Given the description of an element on the screen output the (x, y) to click on. 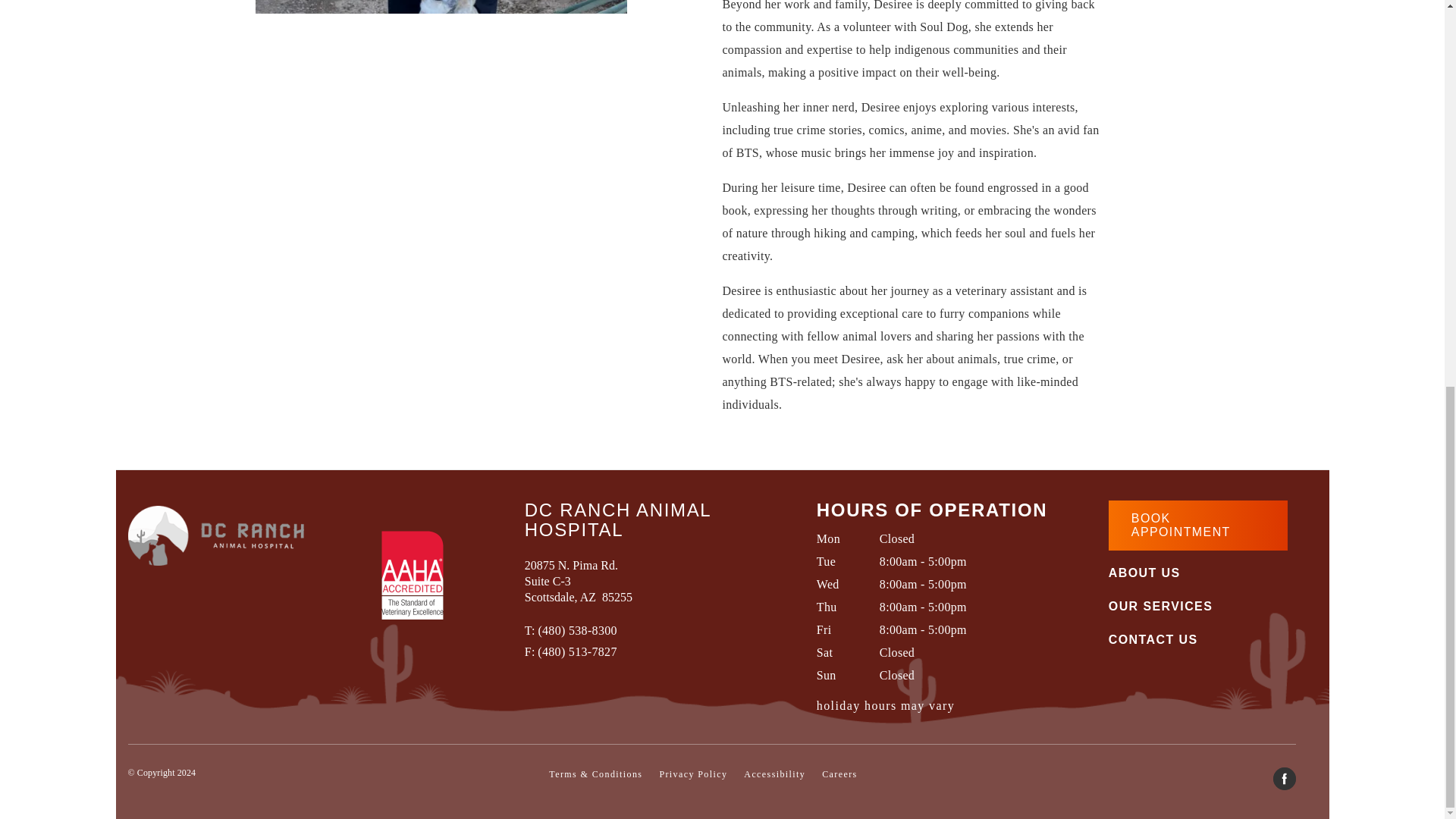
CONTACT US (1153, 640)
Privacy Policy (692, 774)
BOOK APPOINTMENT (1198, 525)
OUR SERVICES (1160, 606)
ABOUT US (1144, 572)
